Given the description of an element on the screen output the (x, y) to click on. 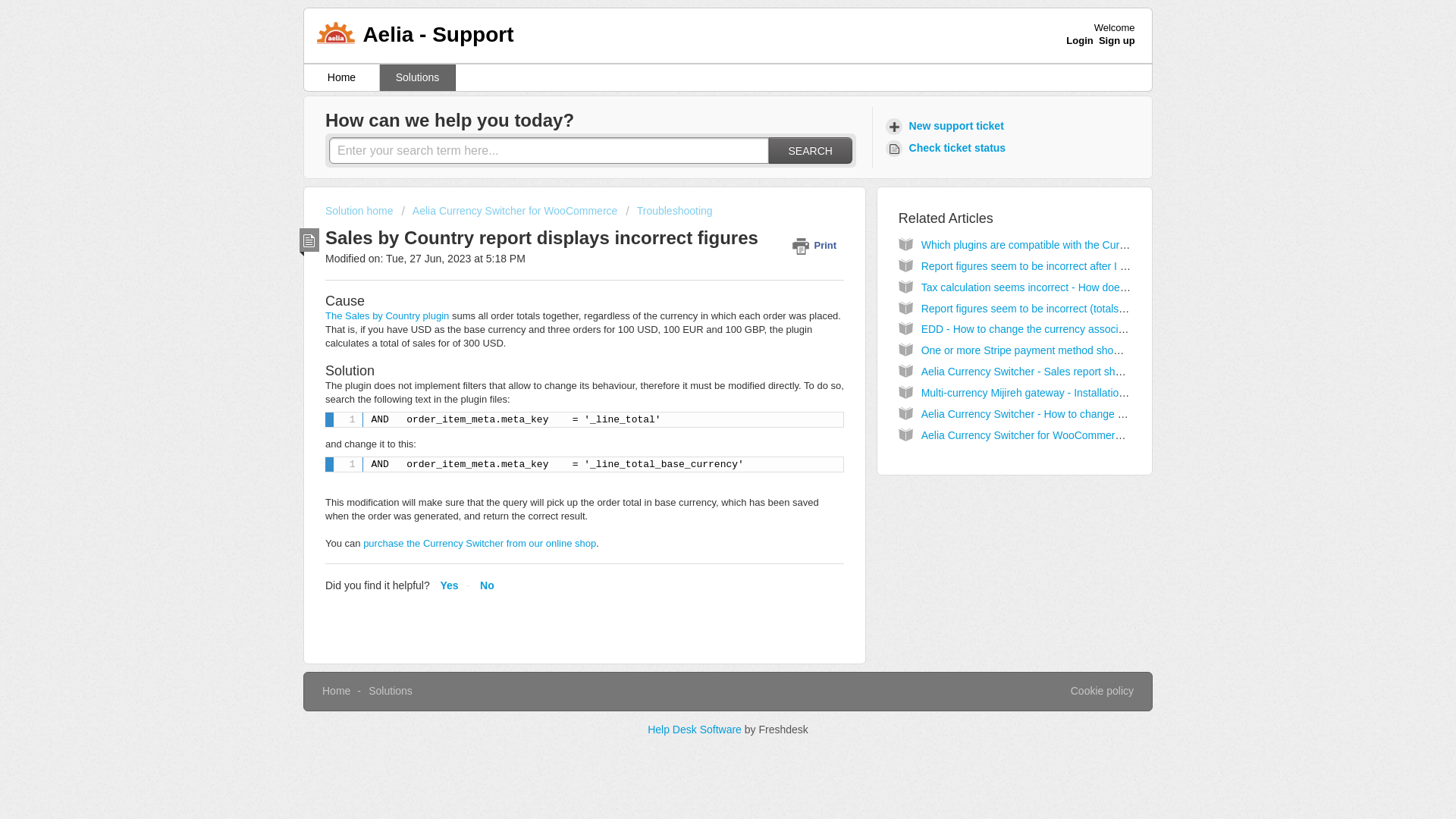
New support ticket (946, 126)
Sign up (1117, 40)
Login (1079, 40)
Print this Article (818, 244)
Troubleshooting (668, 210)
SEARCH (809, 150)
Cookie policy (1102, 691)
Which plugins are compatible with the Currency Switcher? (1058, 244)
Solutions (390, 690)
Solution home (360, 210)
Multi-currency Mijireh gateway - Installation instructions (1050, 392)
Print (818, 244)
The Sales by Country plugin (386, 315)
